Given the description of an element on the screen output the (x, y) to click on. 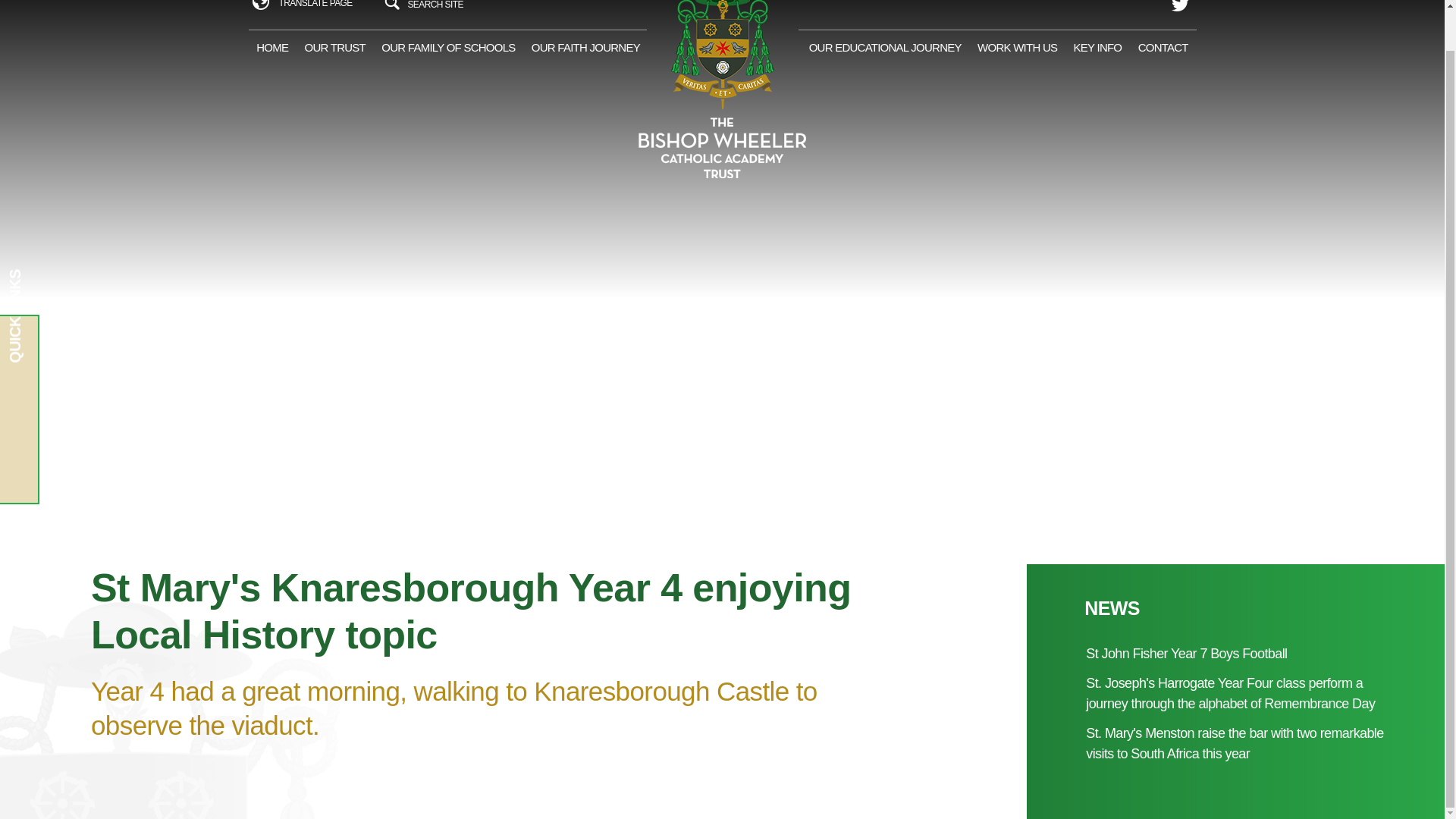
HOME (272, 47)
OUR FAITH JOURNEY (585, 47)
OUR EDUCATIONAL JOURNEY (884, 47)
OUR TRUST (334, 47)
WORK WITH US (1016, 47)
OUR FAMILY OF SCHOOLS (448, 47)
